Given the description of an element on the screen output the (x, y) to click on. 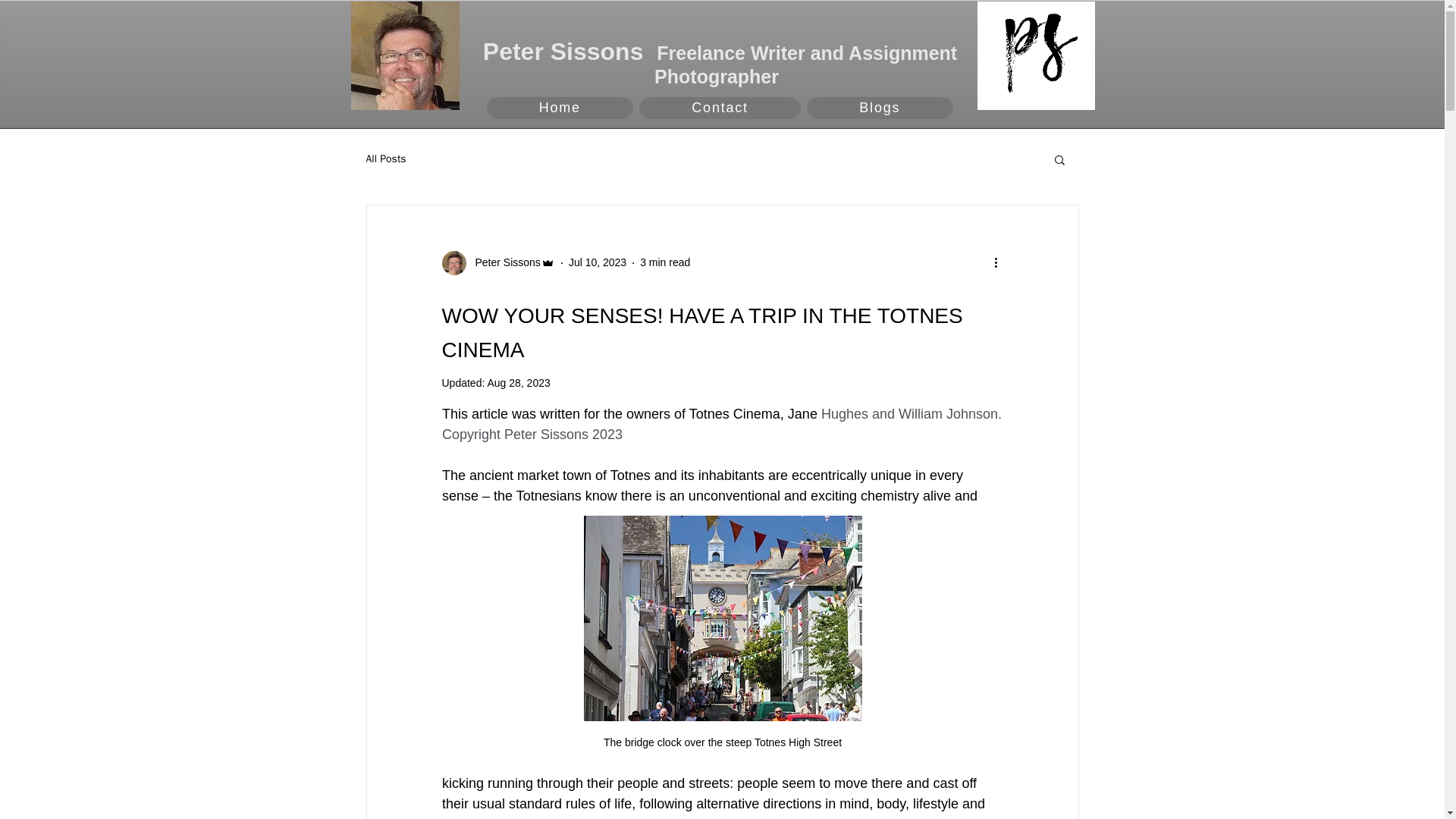
Contact (719, 107)
Home (559, 107)
Jul 10, 2023 (597, 262)
Blogs (879, 107)
3 min read (665, 262)
Aug 28, 2023 (518, 382)
Peter Sissons writer author (404, 55)
Peter Sissons writer author (1035, 55)
All Posts (385, 159)
Peter Sissons (719, 107)
Peter Sissons (502, 262)
